Given the description of an element on the screen output the (x, y) to click on. 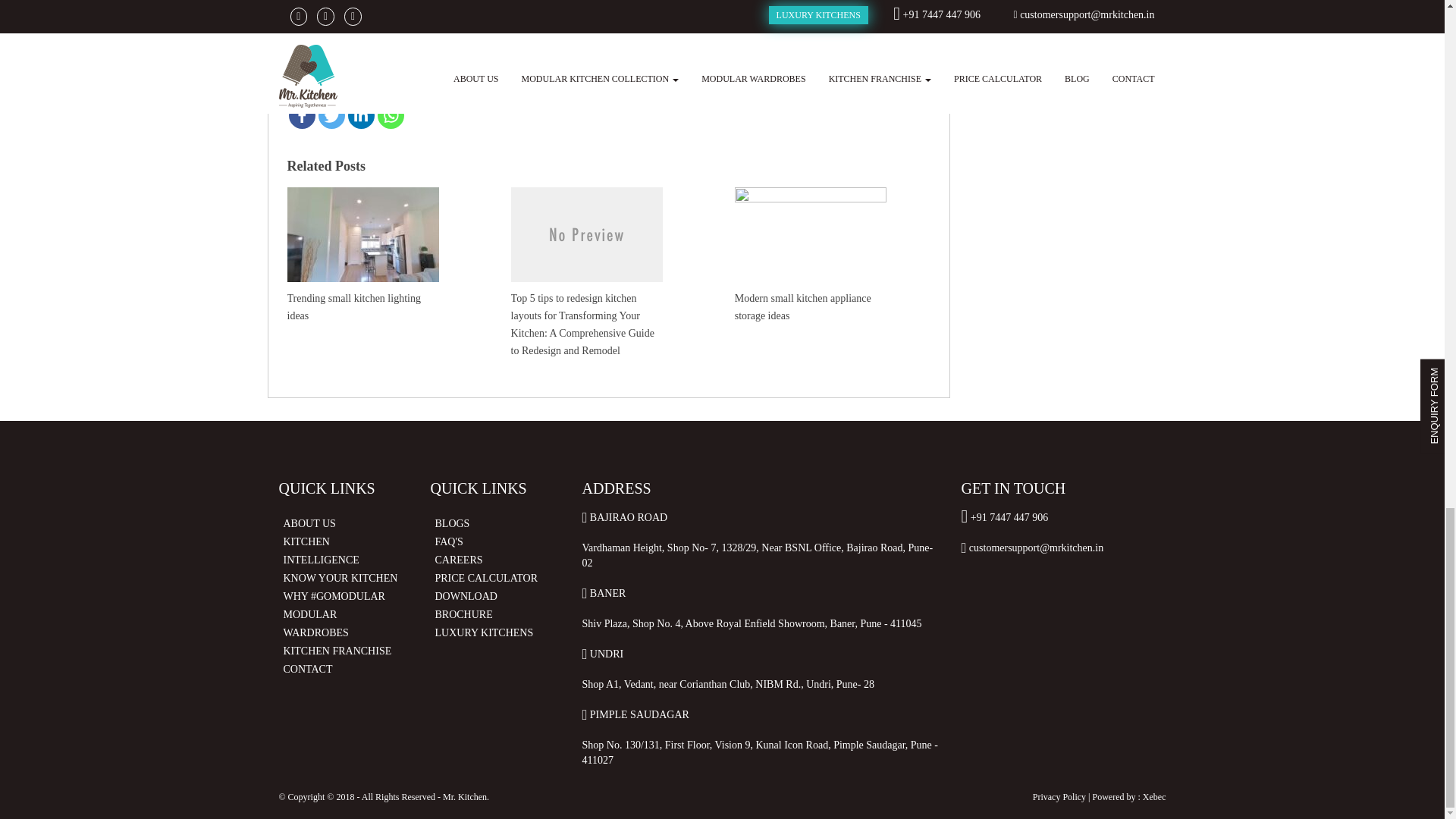
Whatsapp (390, 115)
Trending small kitchen lighting ideas (362, 253)
Trending small kitchen lighting ideas (362, 253)
Linkedin (360, 115)
Twitter (331, 115)
Facebook (301, 115)
Modern small kitchen appliance storage ideas (810, 253)
Modern small kitchen appliance storage ideas (810, 253)
